Given the description of an element on the screen output the (x, y) to click on. 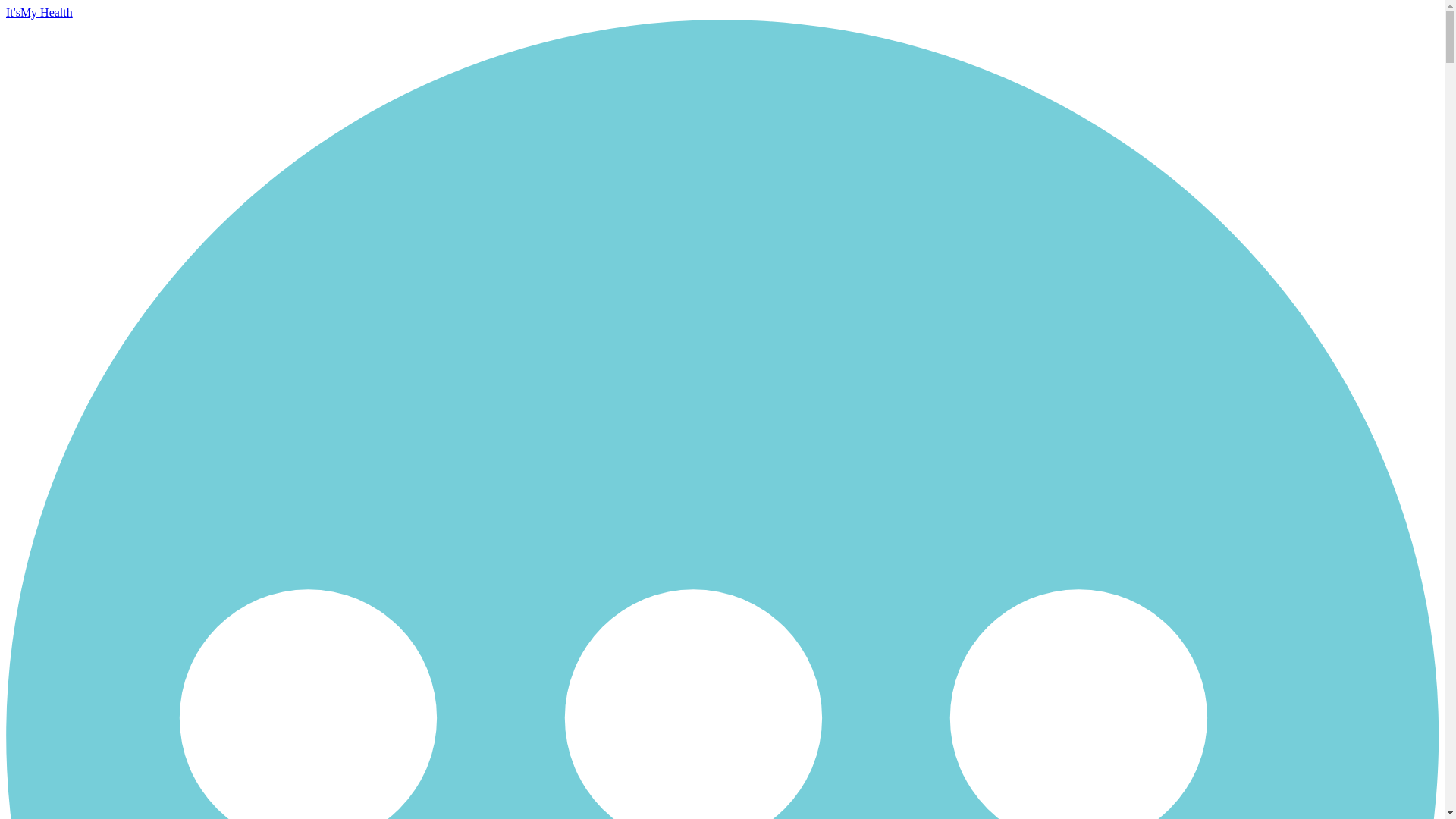
It'sMy Health Element type: text (39, 12)
